Given the description of an element on the screen output the (x, y) to click on. 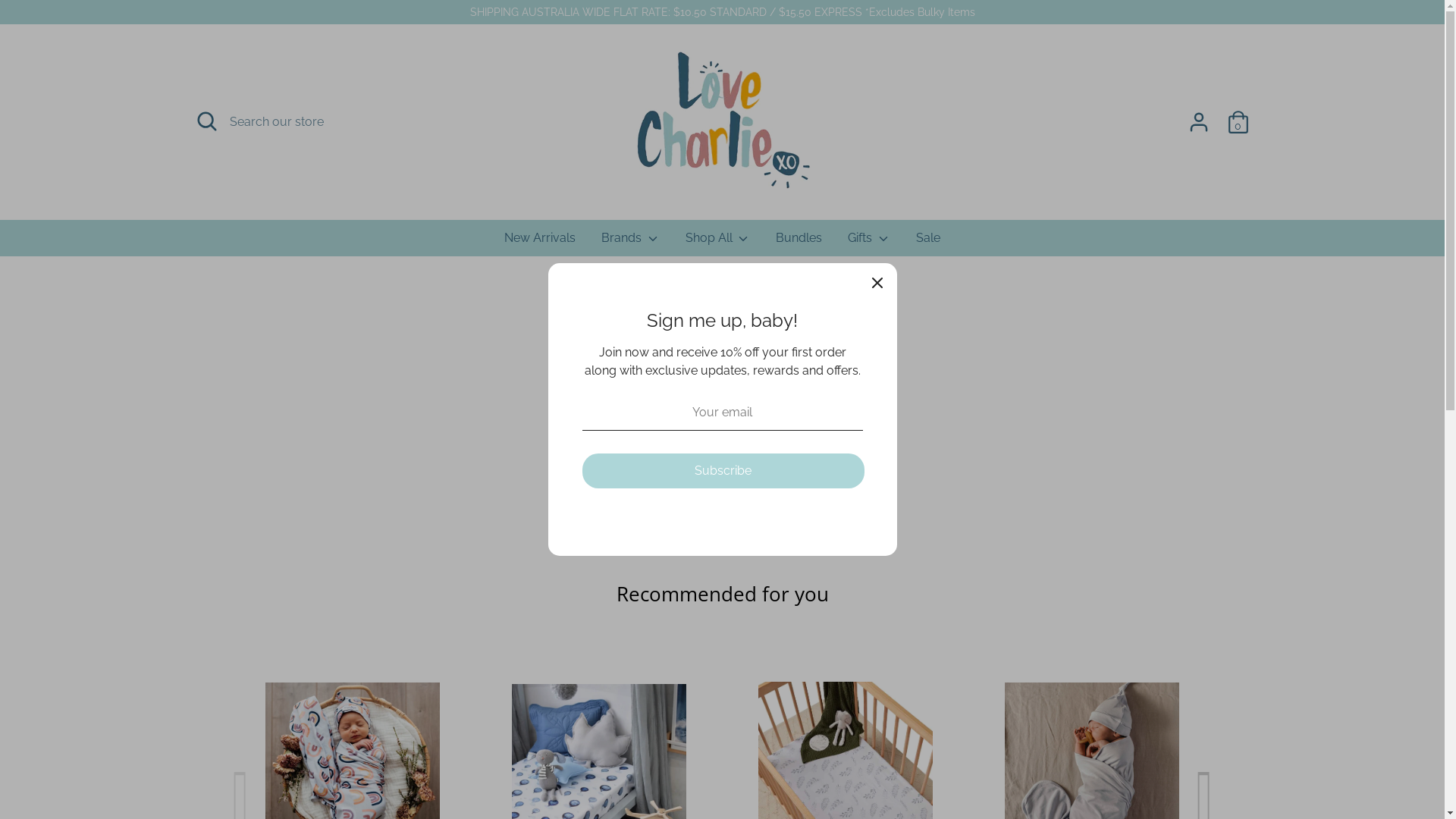
0 Element type: text (1237, 121)
Sign up Element type: text (893, 675)
Search Element type: text (210, 800)
Subscribe Element type: text (722, 470)
New Arrivals Element type: text (539, 242)
Continue shopping Element type: text (722, 434)
Brands Element type: text (630, 242)
Sale Element type: text (927, 242)
Shop All Element type: text (718, 242)
Gifts Element type: text (868, 242)
Bundles Element type: text (798, 242)
